Given the description of an element on the screen output the (x, y) to click on. 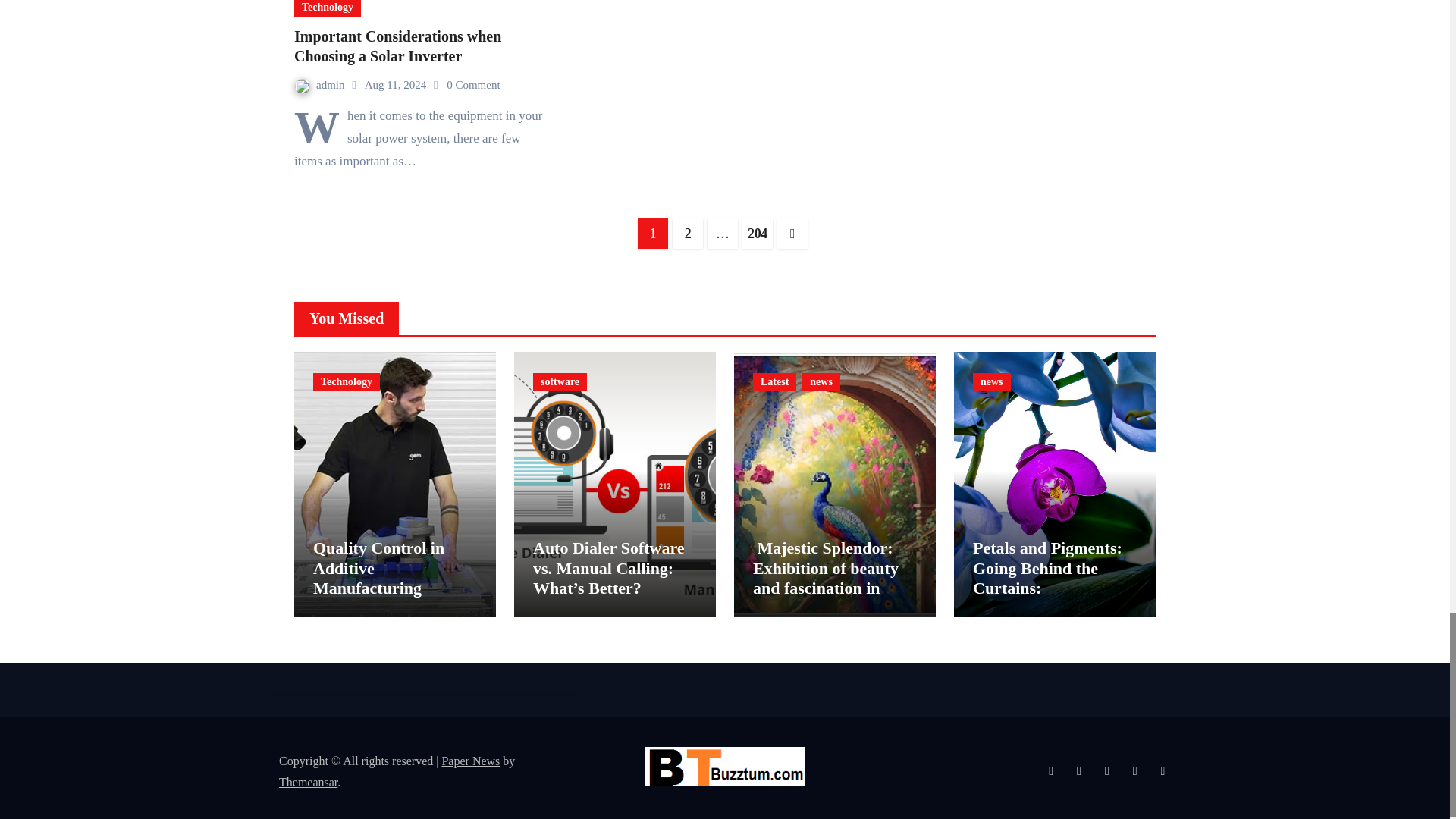
Permalink to: Quality Control in Additive Manufacturing (378, 567)
